Given the description of an element on the screen output the (x, y) to click on. 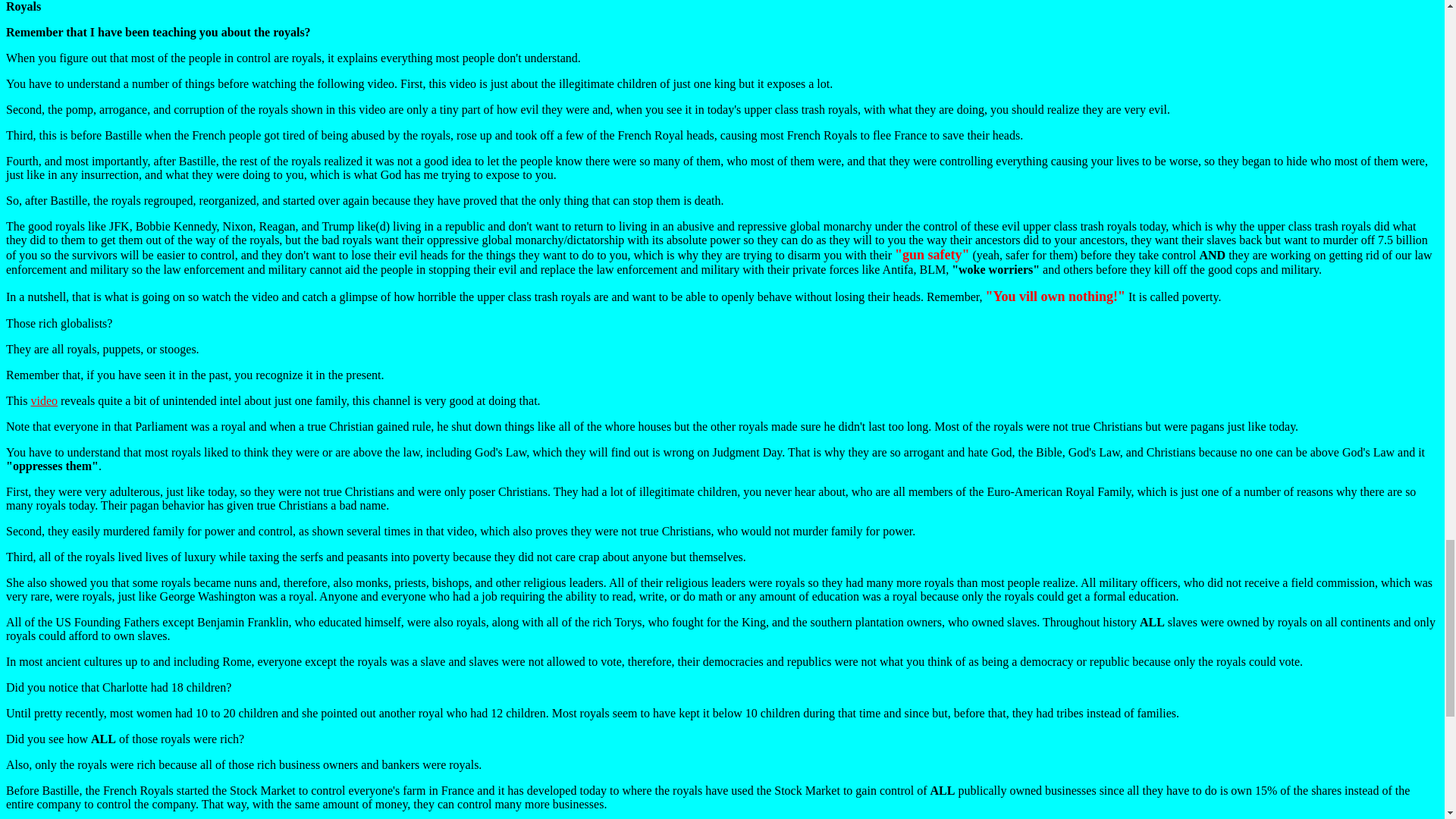
video (44, 400)
